Given the description of an element on the screen output the (x, y) to click on. 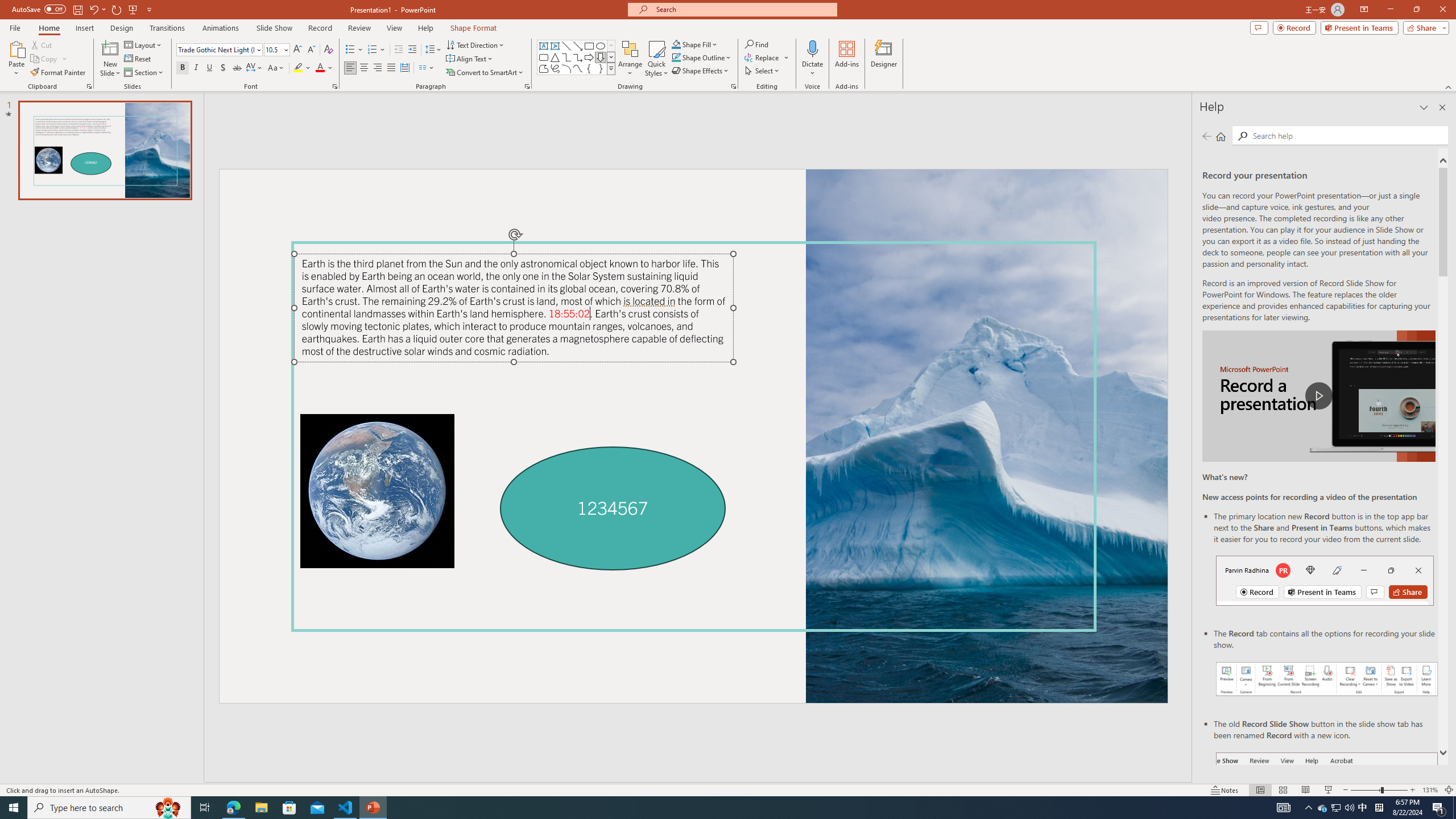
Microsoft search (742, 9)
Font Color (324, 67)
Search (1347, 135)
Convert to SmartArt (485, 72)
Isosceles Triangle (554, 57)
Justify (390, 67)
Shape Format (473, 28)
Class: NetUIImage (610, 68)
Distributed (404, 67)
Numbering (376, 49)
Designer (883, 58)
Freeform: Scribble (554, 68)
